Given the description of an element on the screen output the (x, y) to click on. 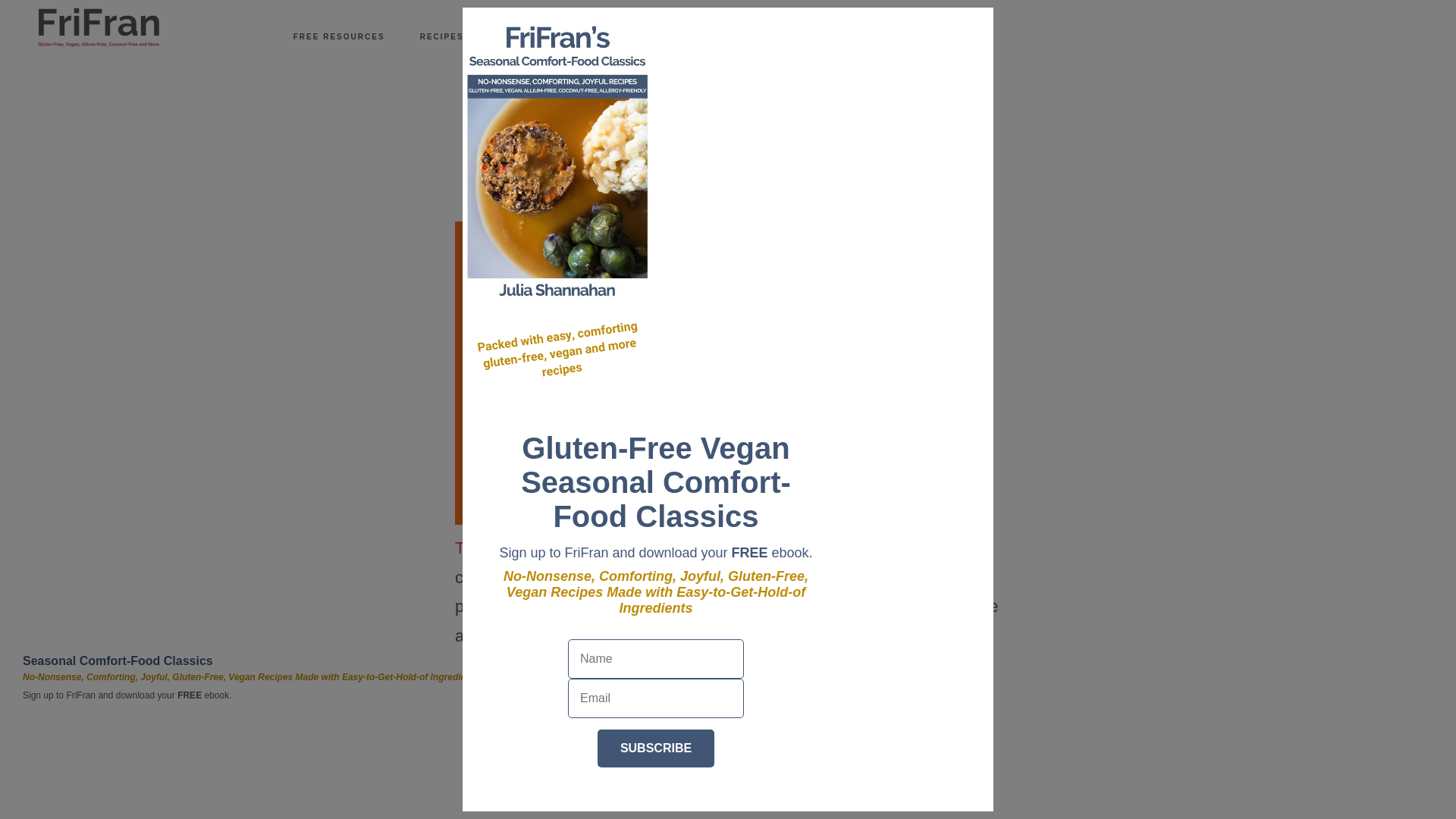
FRIFRAN (98, 26)
FREE RESOURCES (339, 36)
BLOG POSTS (531, 36)
RECIPES (441, 36)
The Art of Fermentation (542, 547)
ABOUT (615, 36)
COOKBOOKS AND MORE (728, 36)
SHOP (837, 36)
